Given the description of an element on the screen output the (x, y) to click on. 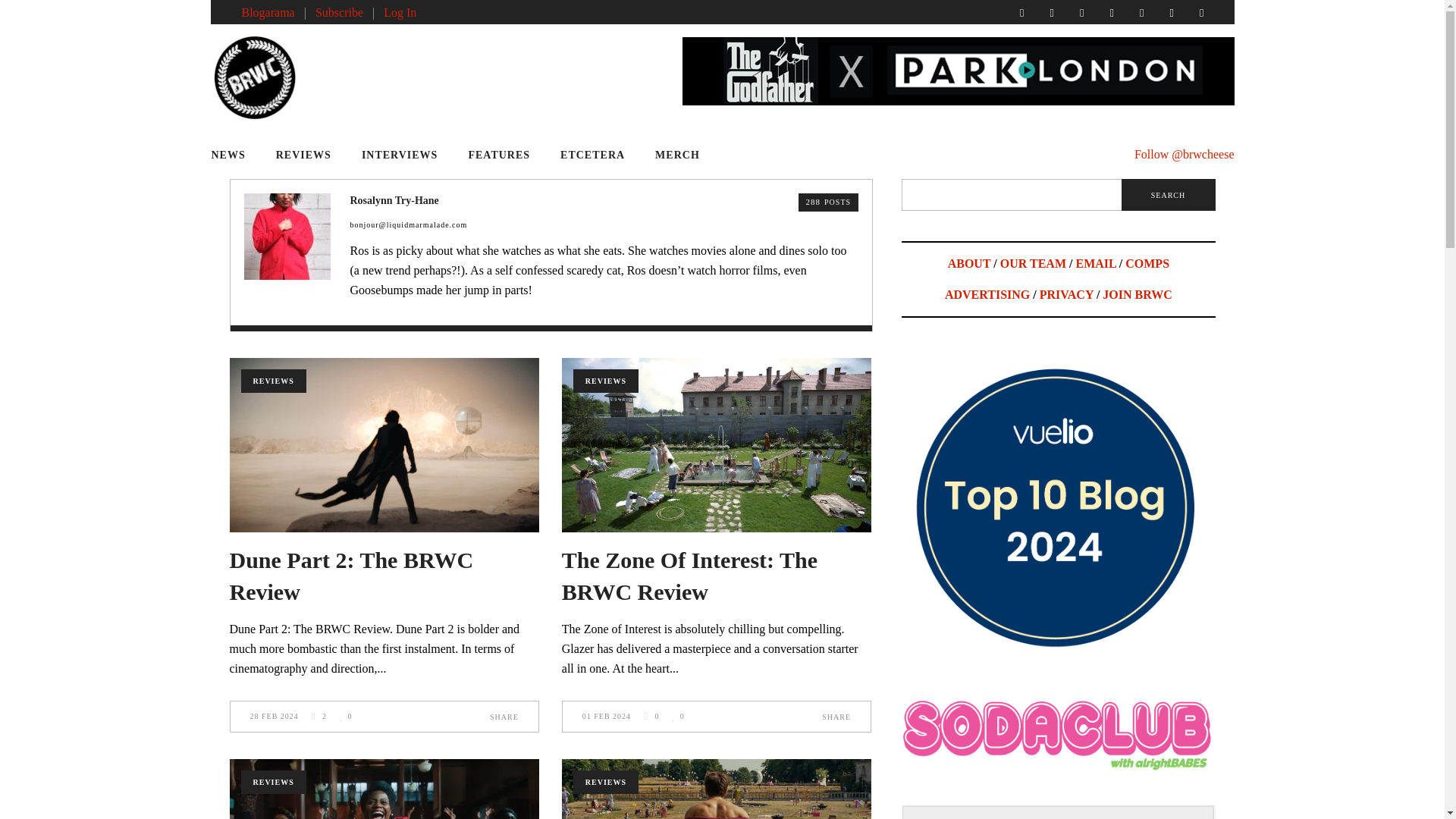
ETCETERA (592, 154)
Blogarama.com - Follow BRWC on Blogarama (267, 11)
Like this (677, 715)
INTERVIEWS (399, 154)
MERCH (677, 154)
NEWS (235, 154)
Like this (345, 715)
FEATURES (498, 154)
Search (1168, 194)
REVIEWS (303, 154)
